Given the description of an element on the screen output the (x, y) to click on. 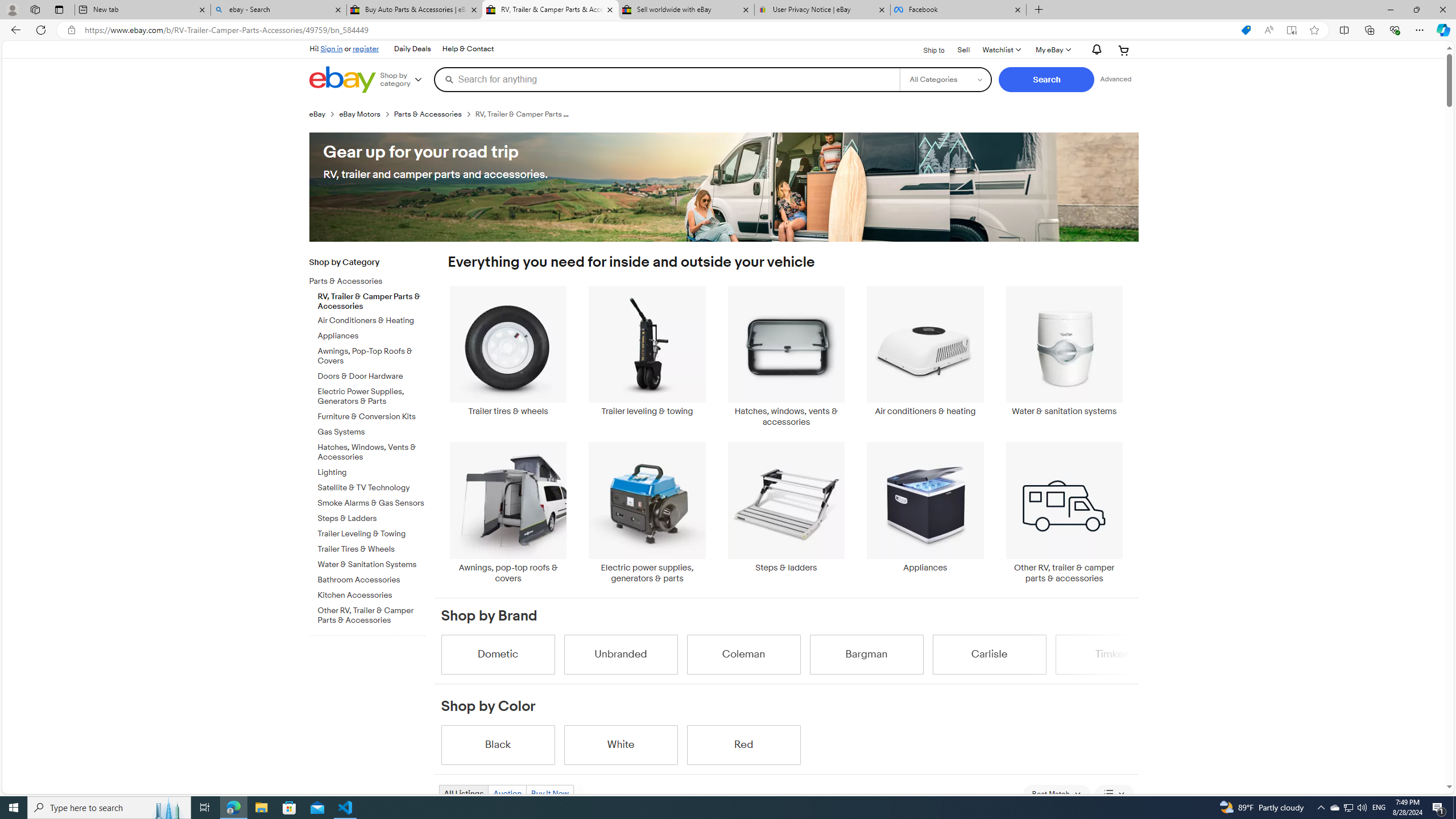
Steps & ladders (786, 507)
Smoke Alarms & Gas Sensors (371, 501)
New tab (142, 9)
Unbranded (620, 653)
Trailer leveling & towing (646, 356)
Browser essentials (1394, 29)
Unbranded (620, 653)
Help & Contact (467, 49)
Buy It Now (549, 792)
Awnings, pop-top roofs & covers (508, 512)
Minimize (1390, 9)
Lighting (371, 470)
Trailer Tires & Wheels (371, 549)
My eBay (1052, 49)
All Listings Current view (464, 792)
